Given the description of an element on the screen output the (x, y) to click on. 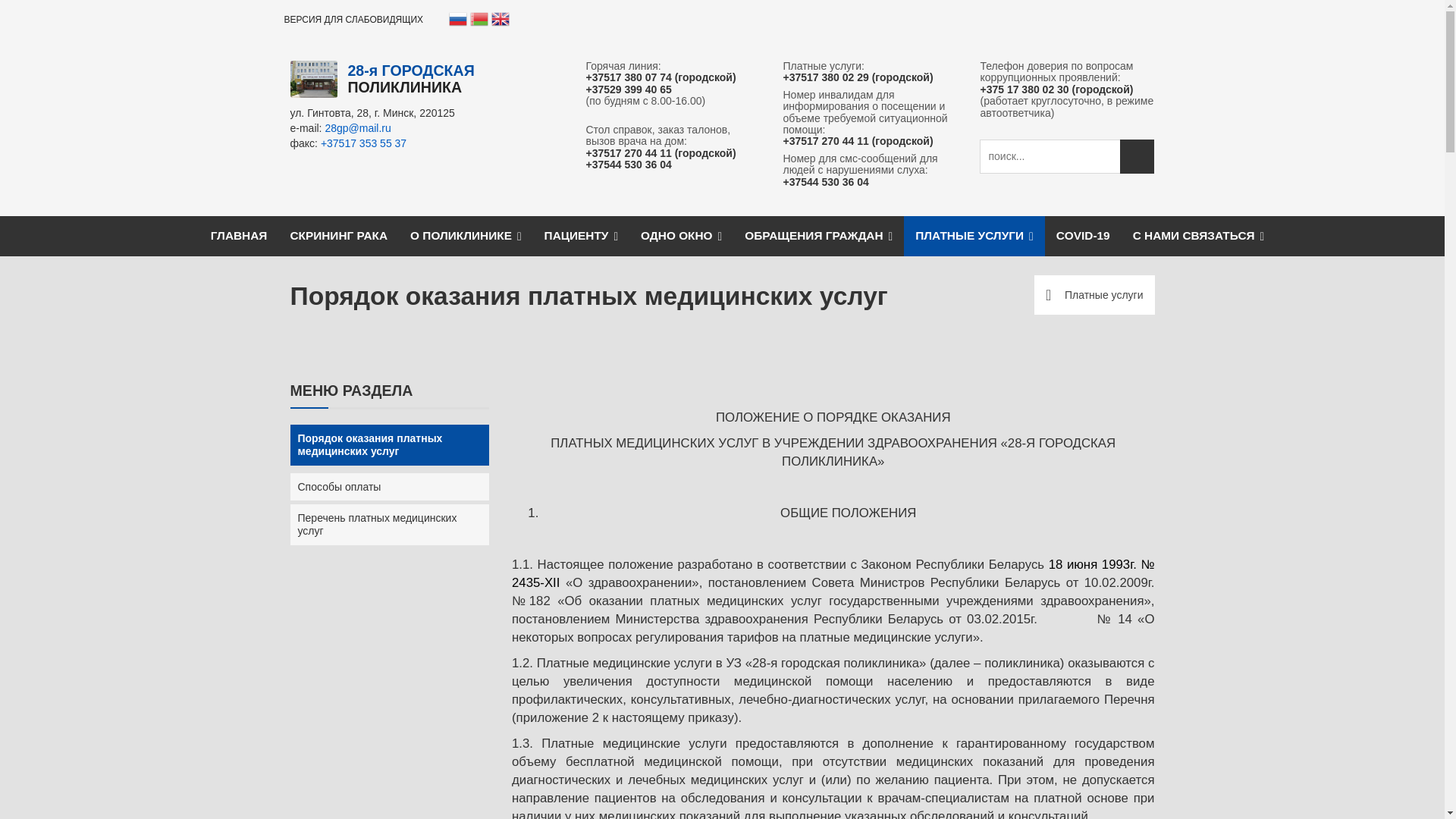
28gp@mail.ru Element type: text (357, 128)
+37517 353 55 37 Element type: text (363, 143)
+37544 530 36 04 Element type: text (825, 182)
COVID-19 Element type: text (1082, 235)
+37544 530 36 04 Element type: text (628, 164)
+37529 399 40 65 Element type: text (628, 89)
